Given the description of an element on the screen output the (x, y) to click on. 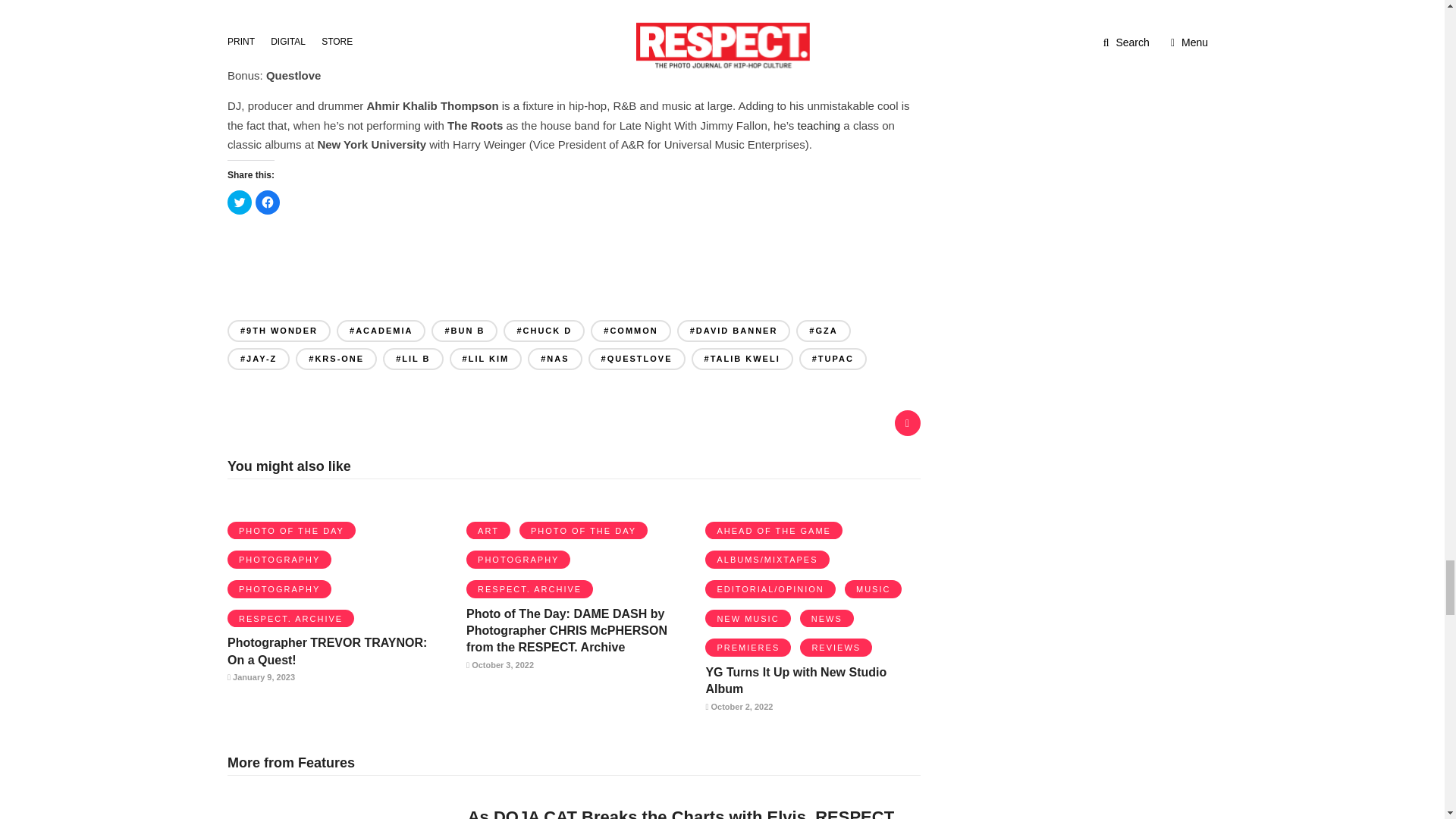
Click to share on Twitter (239, 202)
Photographer TREVOR TRAYNOR: On a Quest! (326, 650)
YG Turns It Up with New Studio Album (795, 680)
Click to share on Facebook (267, 202)
